Given the description of an element on the screen output the (x, y) to click on. 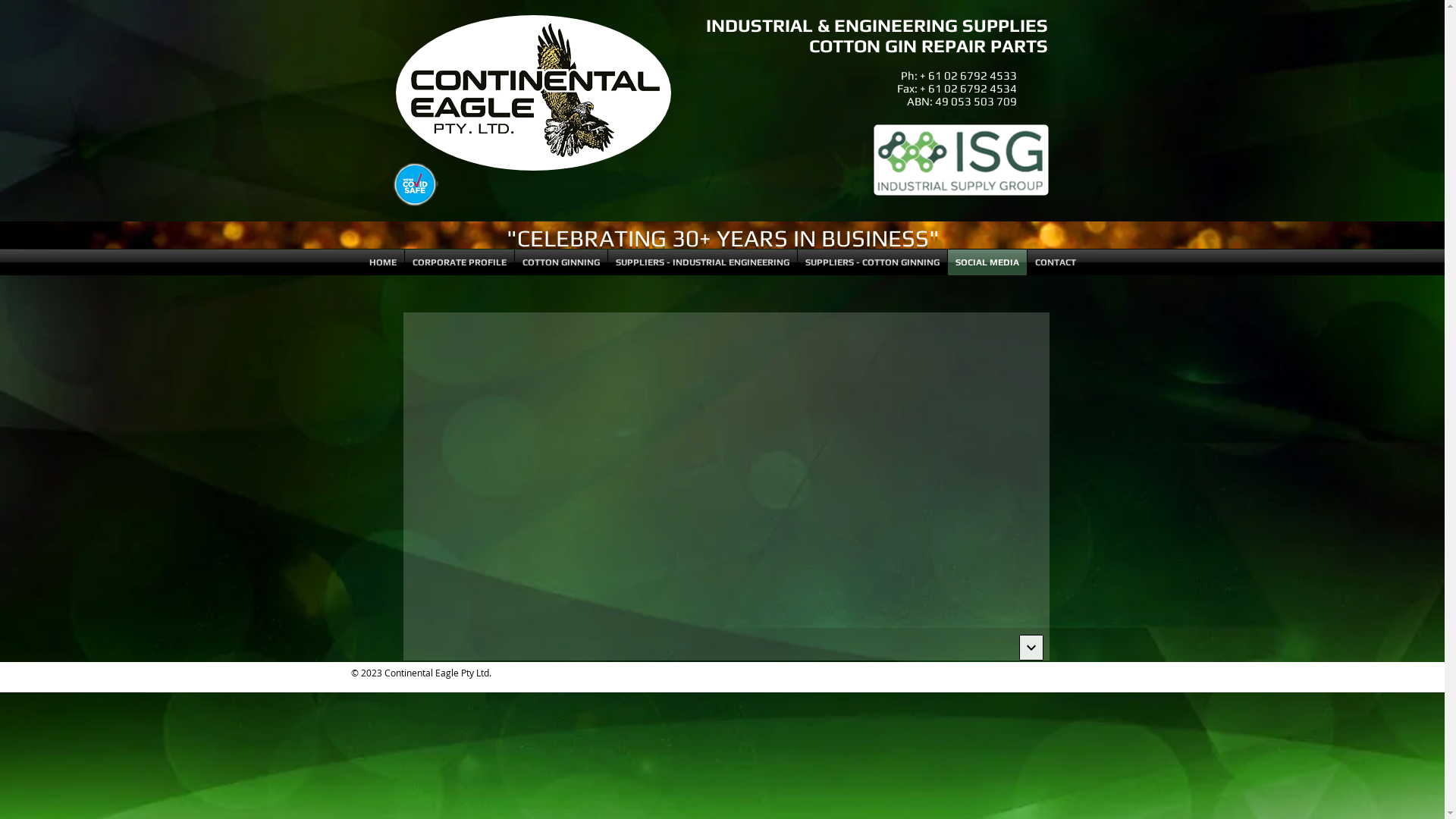
CORPORATE PROFILE Element type: text (459, 262)
SUPPLIERS - INDUSTRIAL ENGINEERING Element type: text (702, 262)
SUPPLIERS - COTTON GINNING Element type: text (872, 262)
COTTON GINNING Element type: text (560, 262)
CONTACT Element type: text (1054, 262)
Social Media Stream Element type: hover (726, 487)
HOME Element type: text (381, 262)
SOCIAL MEDIA Element type: text (986, 262)
